Given the description of an element on the screen output the (x, y) to click on. 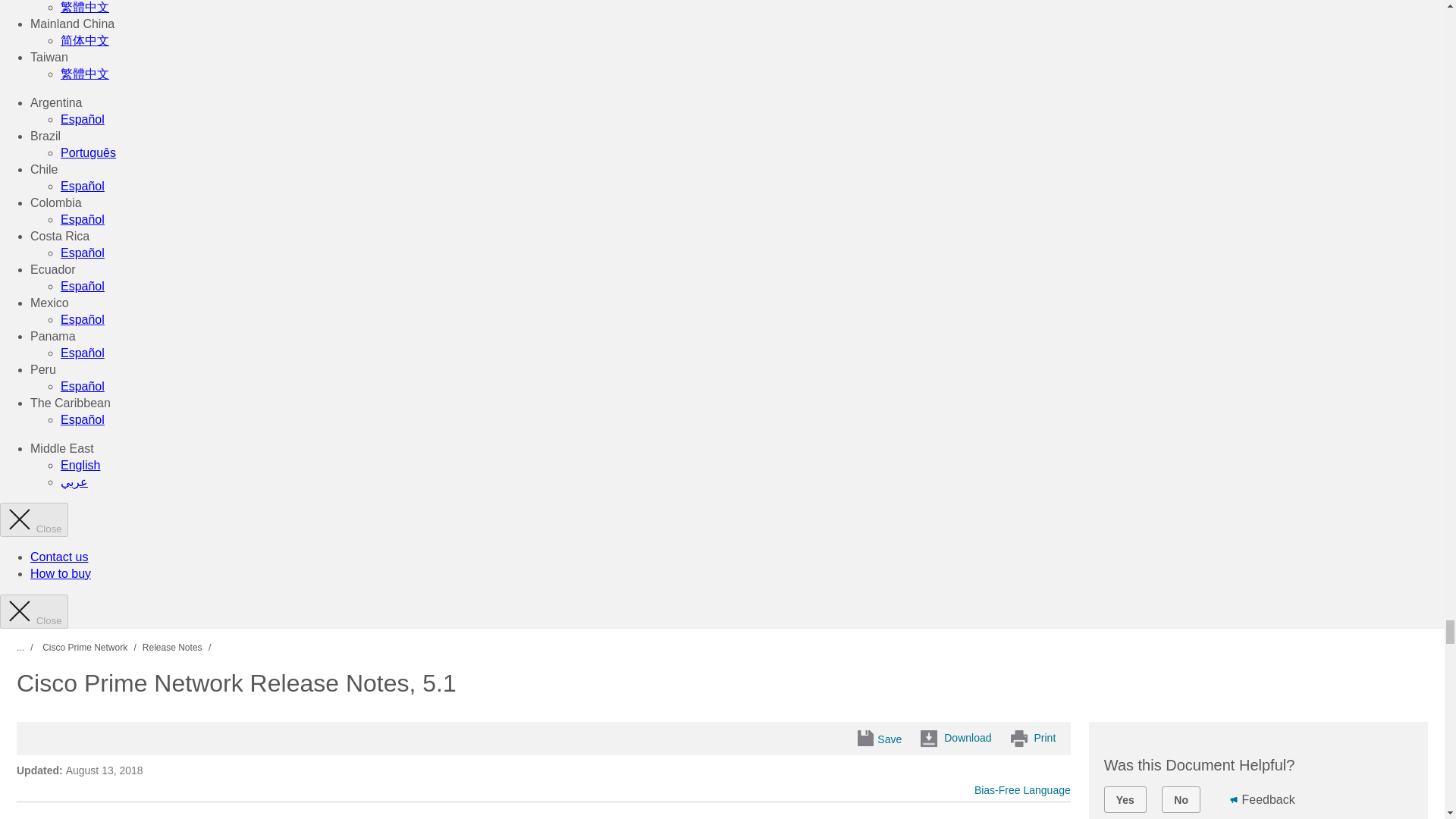
Show All Breadcrumbs (27, 647)
Release Notes (172, 646)
Cisco Prime Network (85, 646)
Save (884, 739)
Bias-Free Language (1022, 789)
Download (955, 738)
Print (1034, 738)
